Given the description of an element on the screen output the (x, y) to click on. 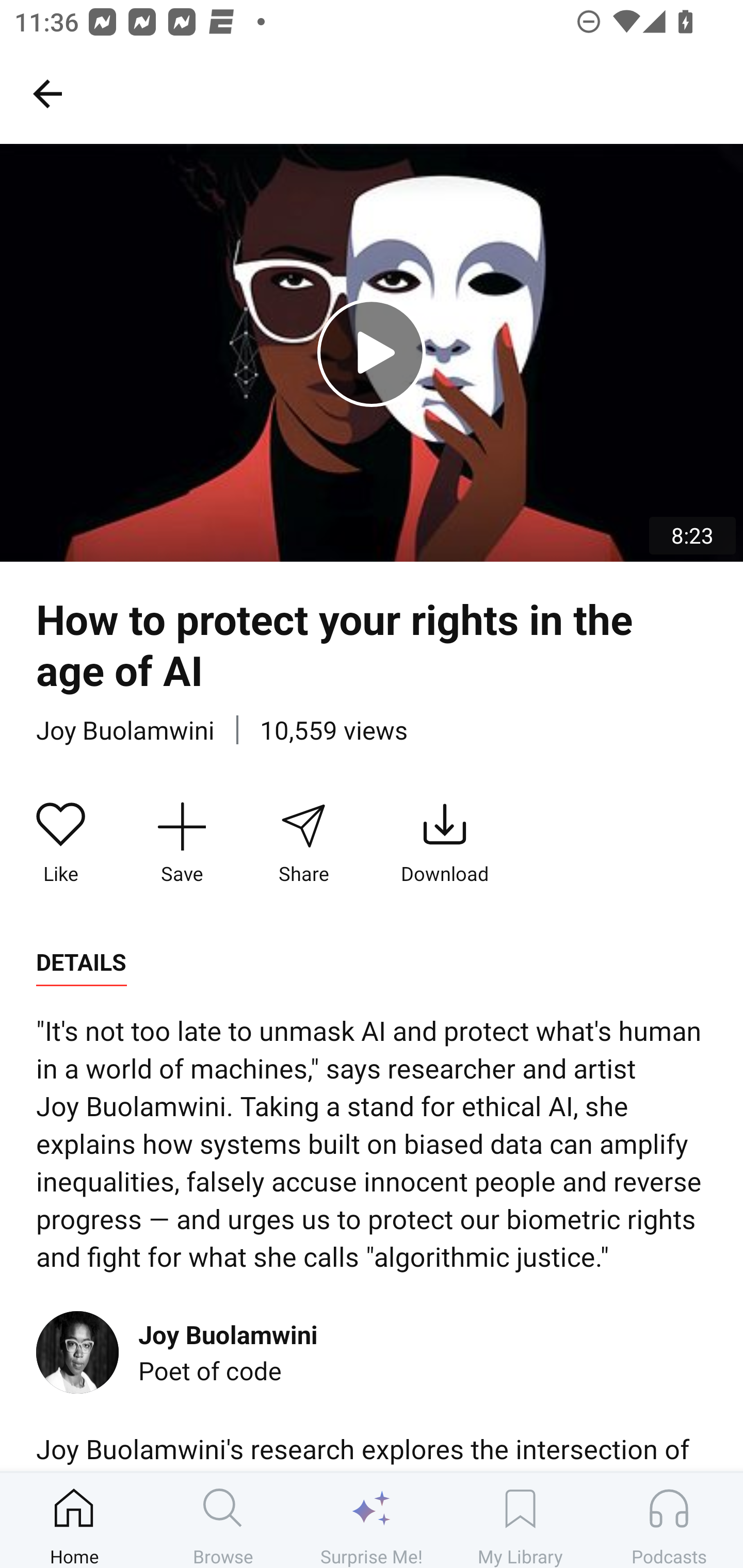
Home, back (47, 92)
Like (60, 843)
Save (181, 843)
Share (302, 843)
Download (444, 843)
DETAILS (80, 962)
Home (74, 1520)
Browse (222, 1520)
Surprise Me! (371, 1520)
My Library (519, 1520)
Podcasts (668, 1520)
